Given the description of an element on the screen output the (x, y) to click on. 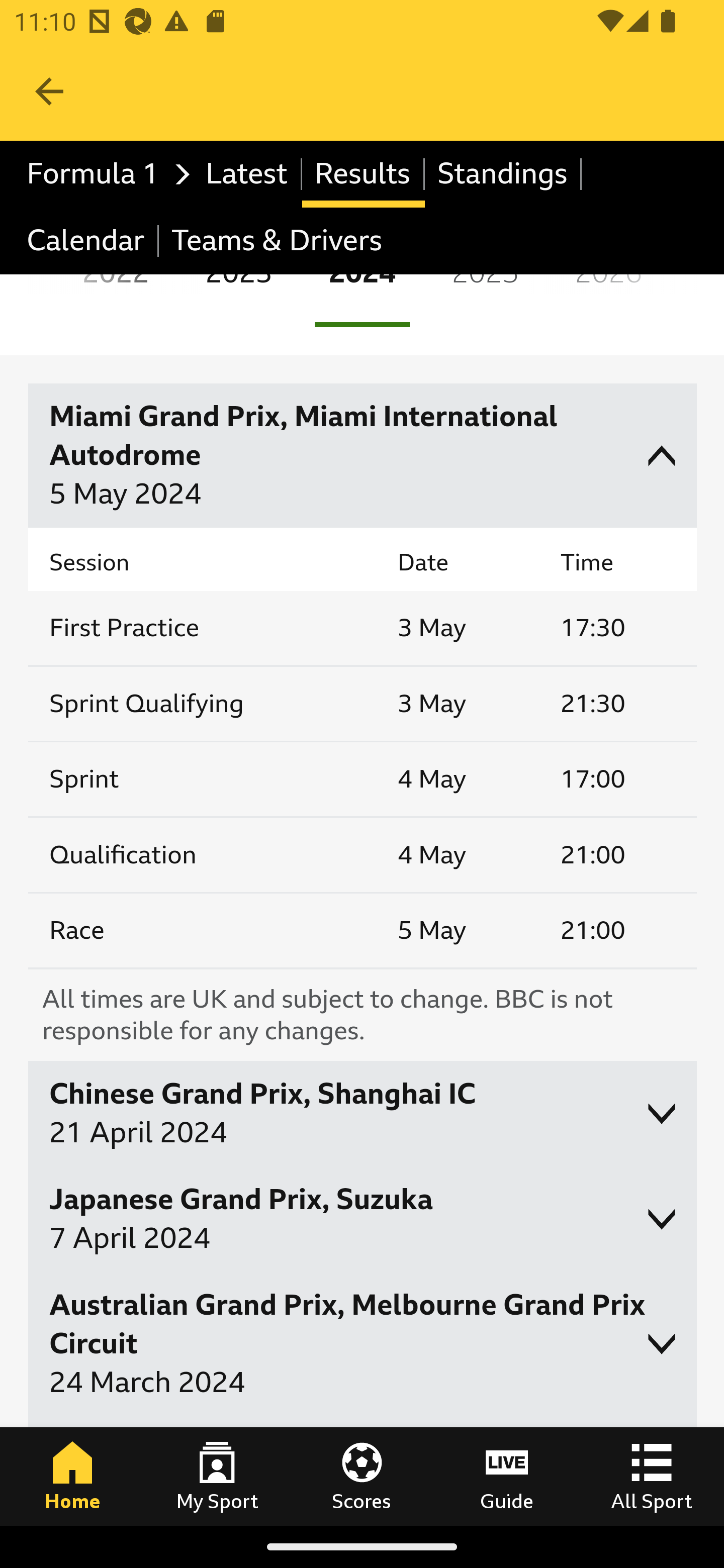
Navigate up (49, 91)
Formula 1 (103, 173)
Latest (246, 173)
Results (362, 173)
Standings (502, 173)
Calendar (86, 240)
Teams & Drivers (277, 240)
Chinese Grand Prix, Shanghai IC , 21 April 2024 (363, 1113)
Japanese Grand Prix, Suzuka , 7 April 2024 (363, 1219)
My Sport (216, 1475)
Scores (361, 1475)
Guide (506, 1475)
All Sport (651, 1475)
